Given the description of an element on the screen output the (x, y) to click on. 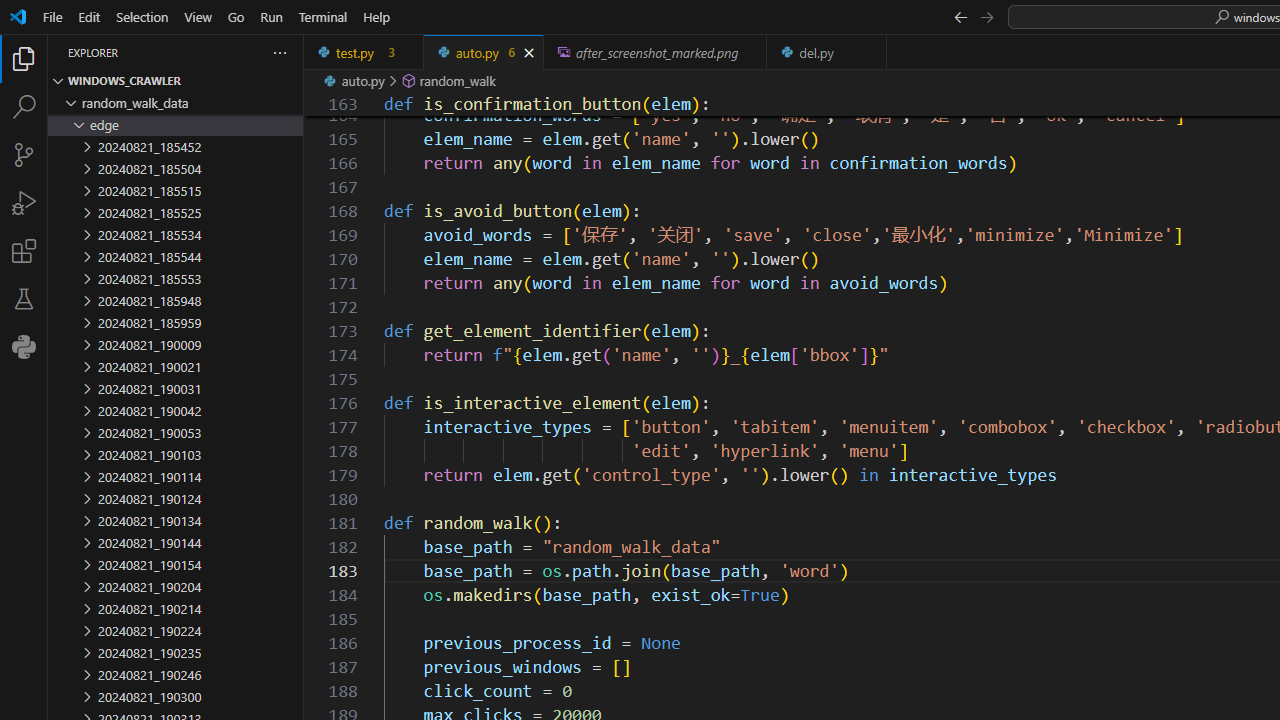
Views and More Actions... (279, 52)
Search (Ctrl+Shift+F) (24, 106)
del.py (827, 52)
Tab actions (872, 52)
Go Back (Alt+LeftArrow) (960, 16)
Source Control (Ctrl+Shift+G) (24, 155)
test.py (363, 52)
Go (235, 16)
Extensions (Ctrl+Shift+X) (24, 250)
Go Forward (Alt+RightArrow) (986, 16)
Run and Debug (Ctrl+Shift+D) (24, 202)
File (52, 16)
